Given the description of an element on the screen output the (x, y) to click on. 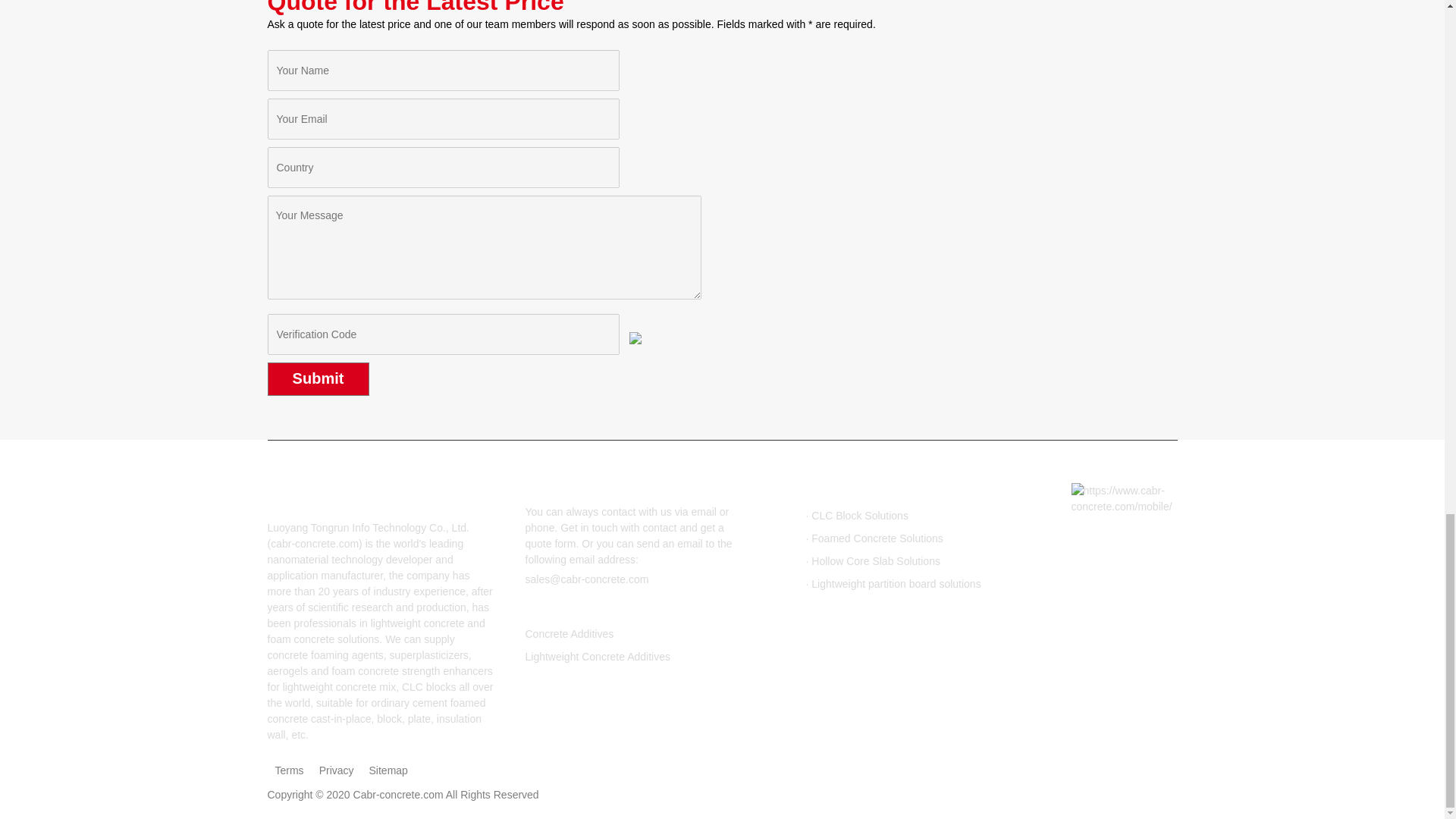
Submit (317, 378)
Concrete Additives (568, 633)
Lightweight Concrete Additives (596, 656)
